Given the description of an element on the screen output the (x, y) to click on. 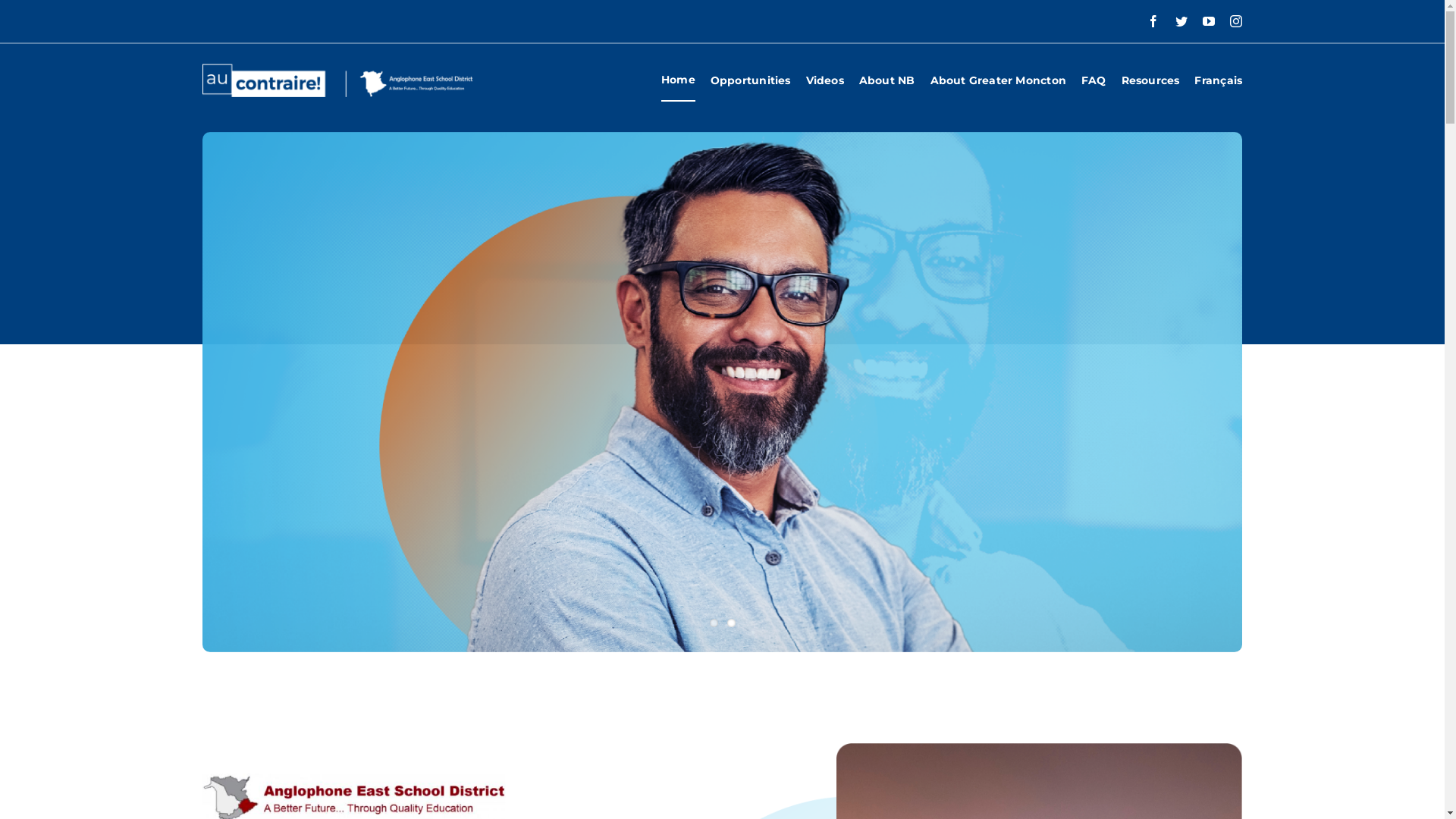
Videos Element type: text (825, 80)
About Greater Moncton Element type: text (998, 80)
FAQ Element type: text (1093, 80)
About NB Element type: text (887, 80)
2 Element type: text (730, 622)
Home Element type: text (678, 80)
1 Element type: text (713, 622)
Resources Element type: text (1150, 80)
Opportunities Element type: text (750, 80)
